Given the description of an element on the screen output the (x, y) to click on. 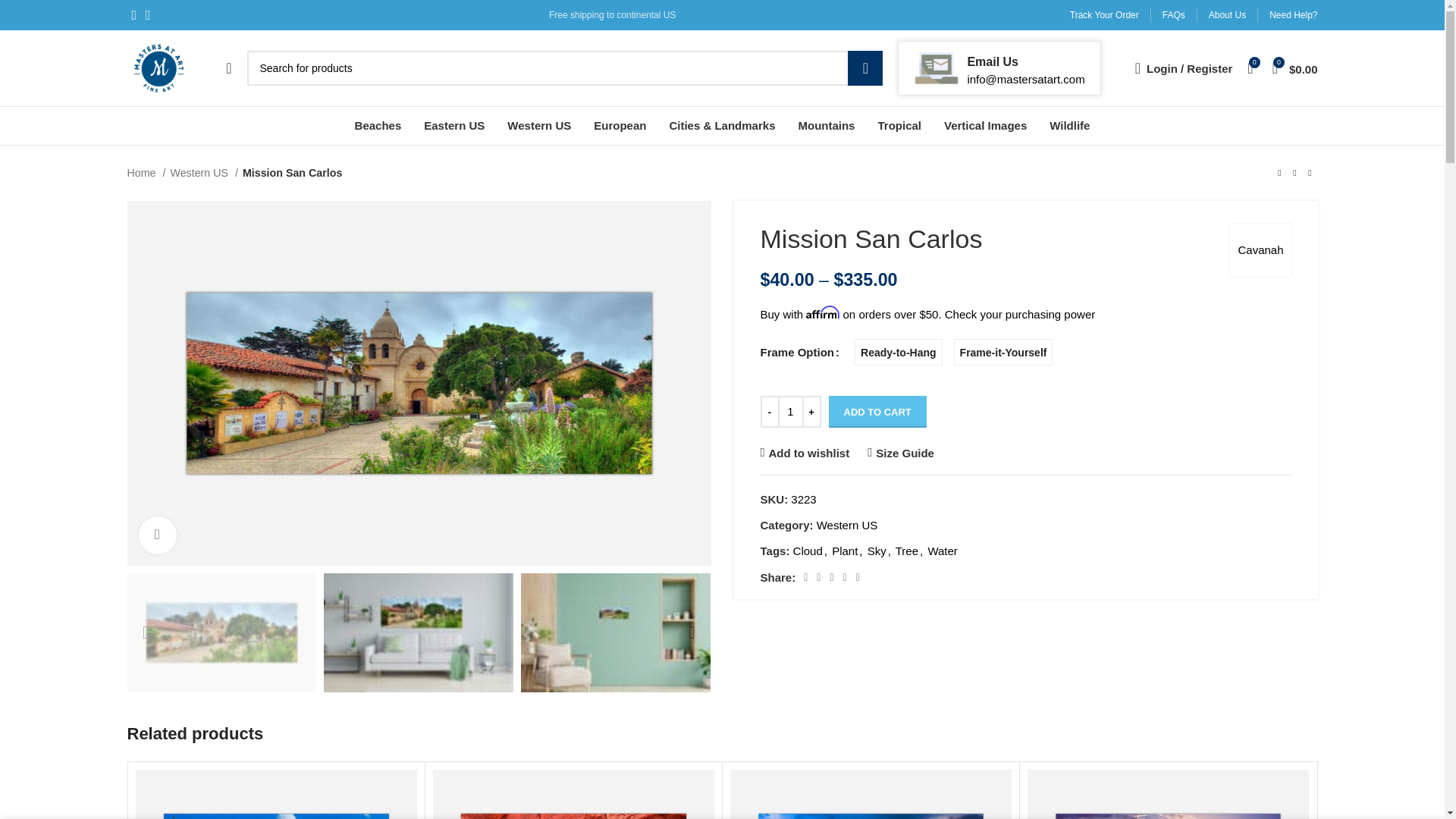
Tropical (899, 125)
FAQs (1173, 15)
Log in (1106, 313)
Home (146, 172)
Western US (203, 172)
Western US (538, 125)
Eastern US (453, 125)
Vertical Images (984, 125)
Shopping cart (1294, 68)
About Us (1227, 15)
Need Help? (1293, 15)
My Wishlist (1250, 68)
1 (790, 411)
Track Your Order (1104, 15)
SEARCH (864, 67)
